Given the description of an element on the screen output the (x, y) to click on. 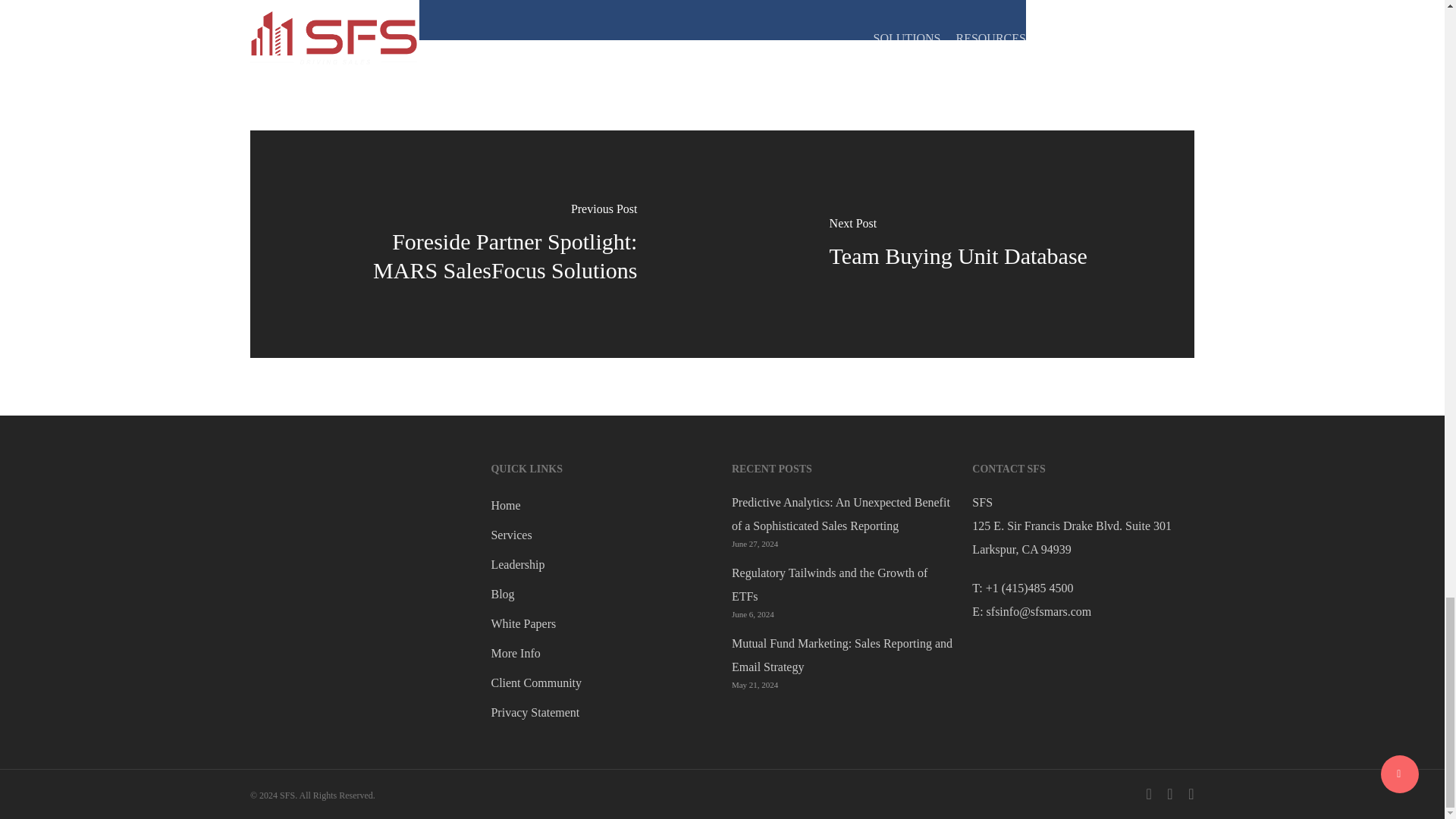
Blog (601, 594)
White Papers (601, 623)
Services (601, 535)
Home (601, 504)
Leadership (601, 564)
